Given the description of an element on the screen output the (x, y) to click on. 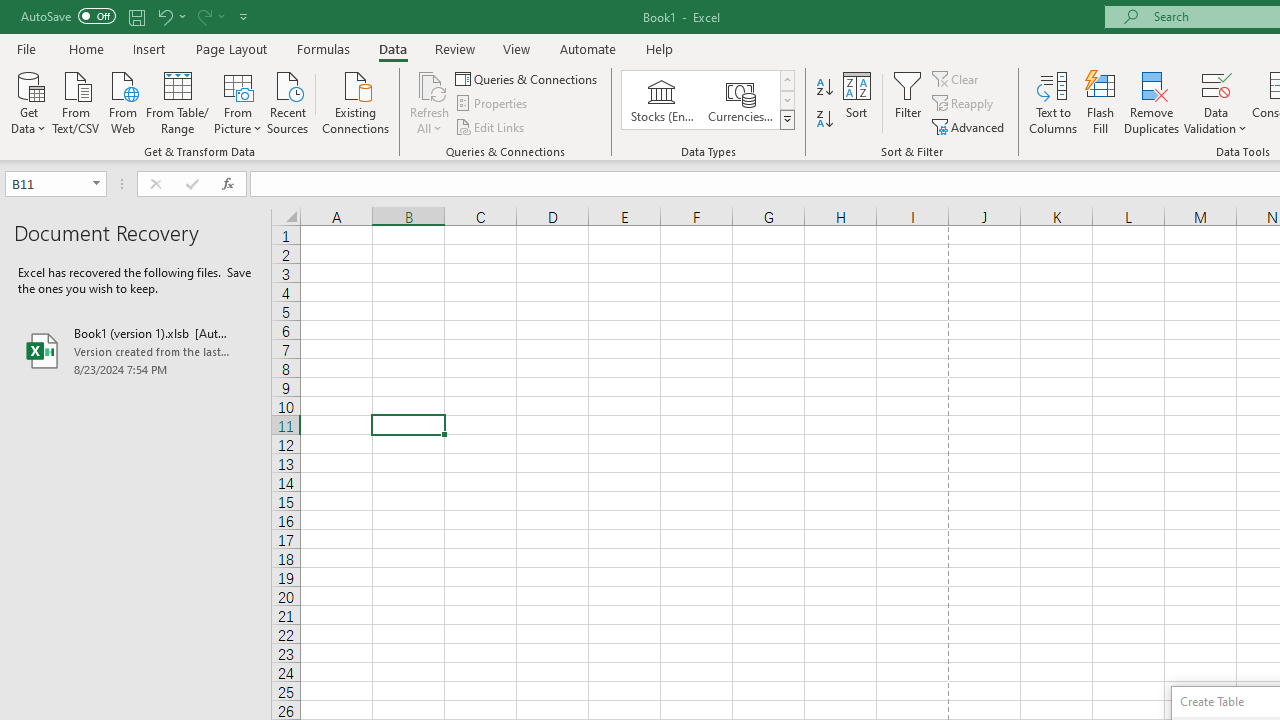
From Picture (238, 101)
